Given the description of an element on the screen output the (x, y) to click on. 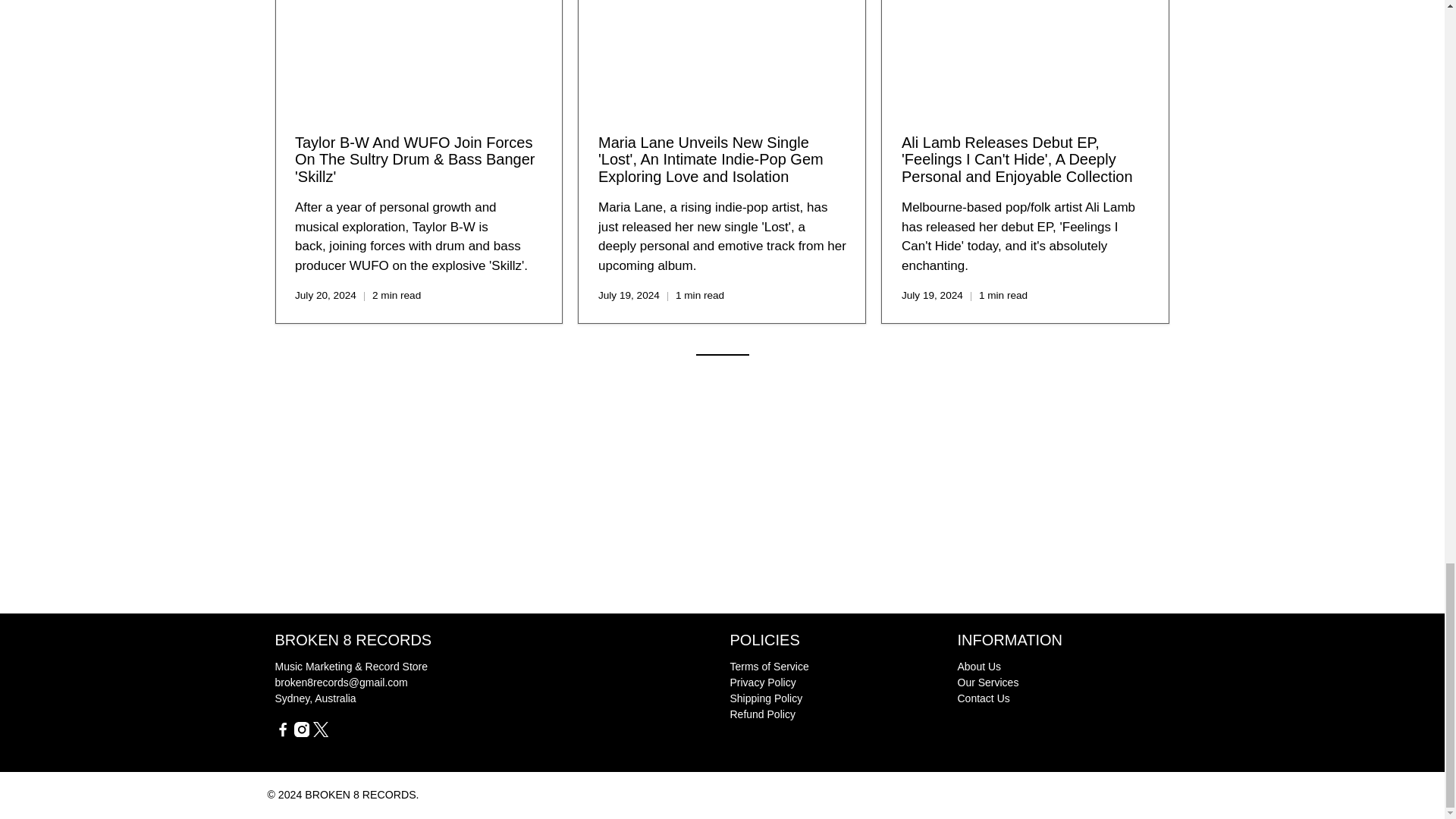
BROKEN 8 RECORDS on Instagram (301, 733)
BROKEN 8 RECORDS on Facebook (282, 733)
